Given the description of an element on the screen output the (x, y) to click on. 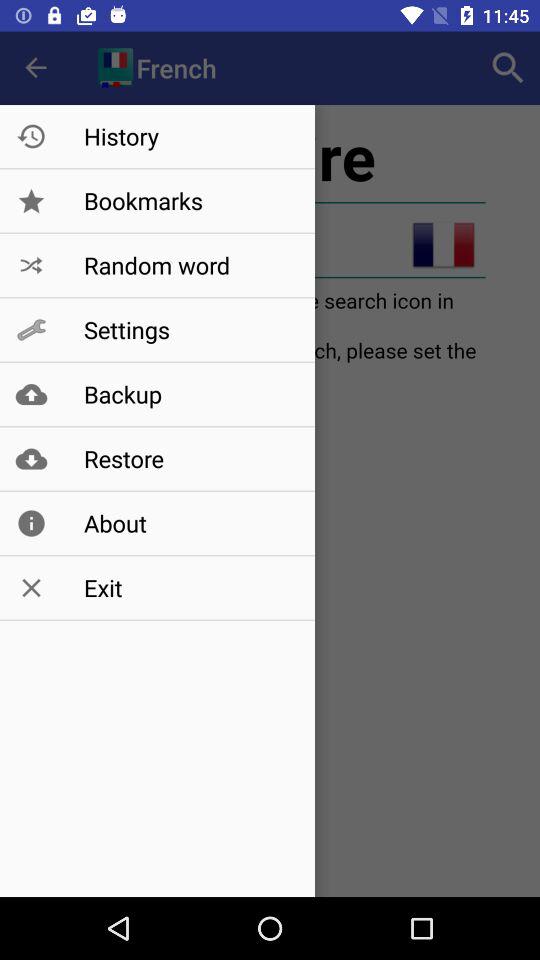
click random word icon (188, 265)
